Given the description of an element on the screen output the (x, y) to click on. 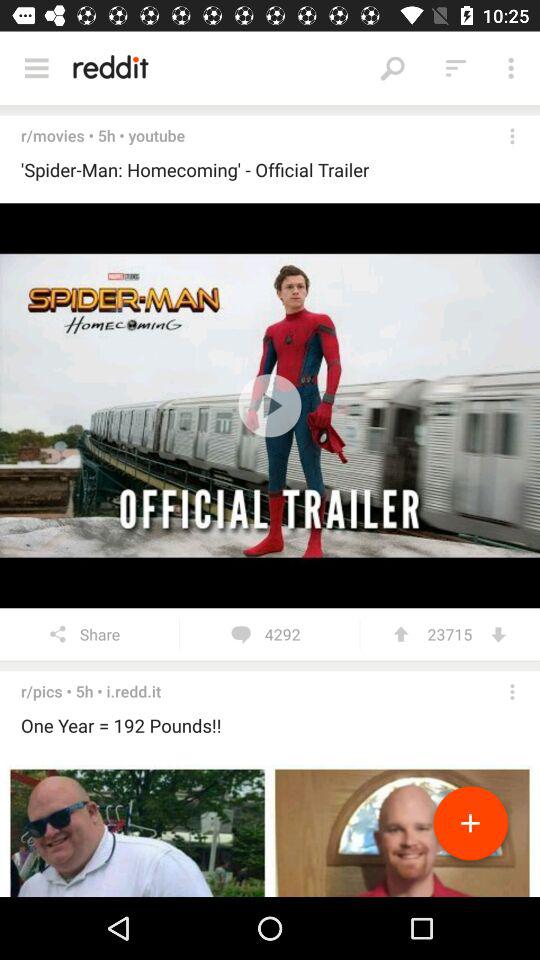
add photo (470, 827)
